Given the description of an element on the screen output the (x, y) to click on. 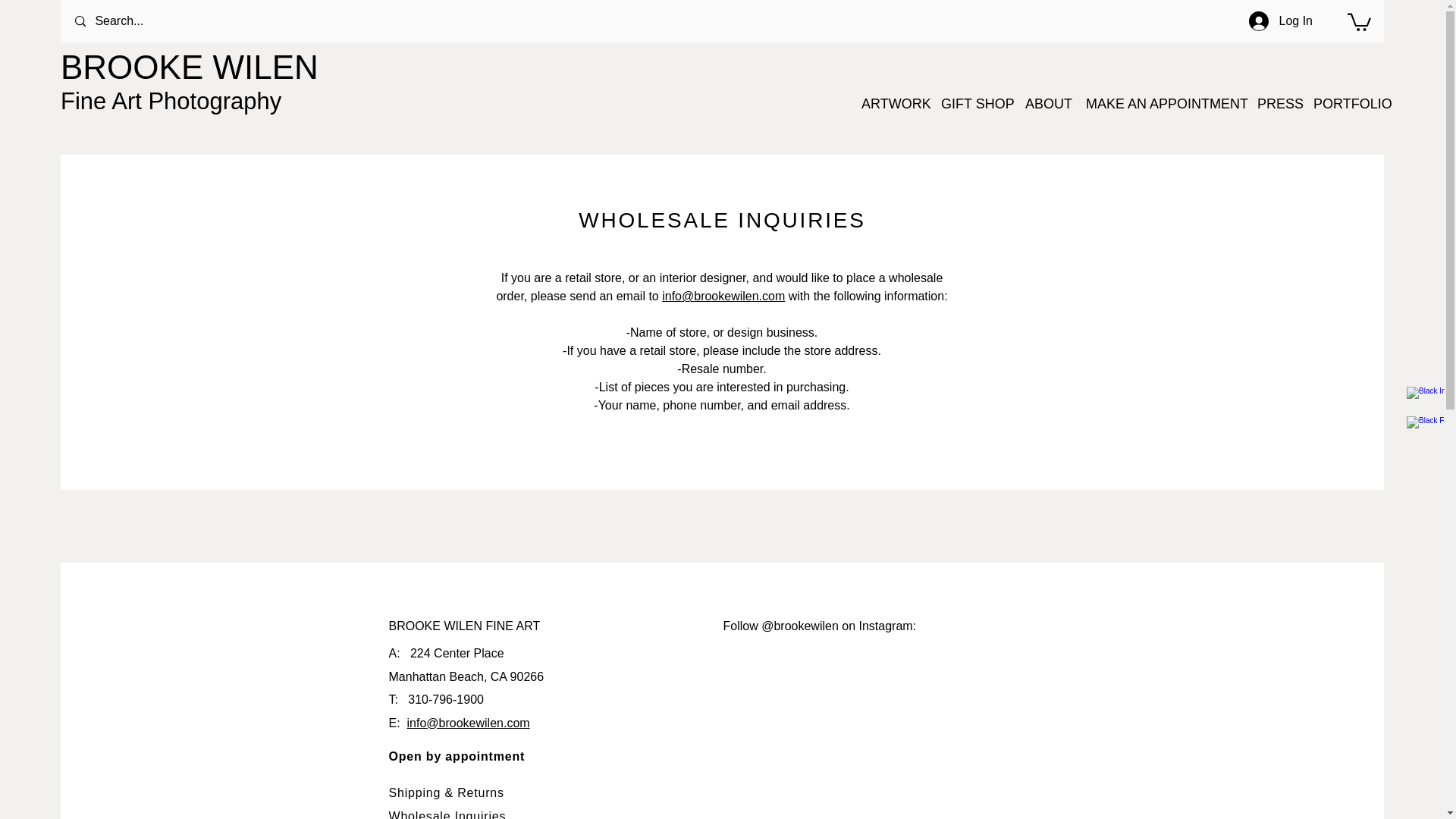
Fine Art Photography (171, 101)
MAKE AN APPOINTMENT (1163, 103)
Wholesale Inquiries  (448, 814)
Log In (1281, 21)
ABOUT (1047, 103)
PORTFOLIO (1350, 103)
Open by appointment (456, 756)
PRESS (1277, 103)
310-796-1900 (445, 698)
BROOKE WILEN (189, 71)
